Given the description of an element on the screen output the (x, y) to click on. 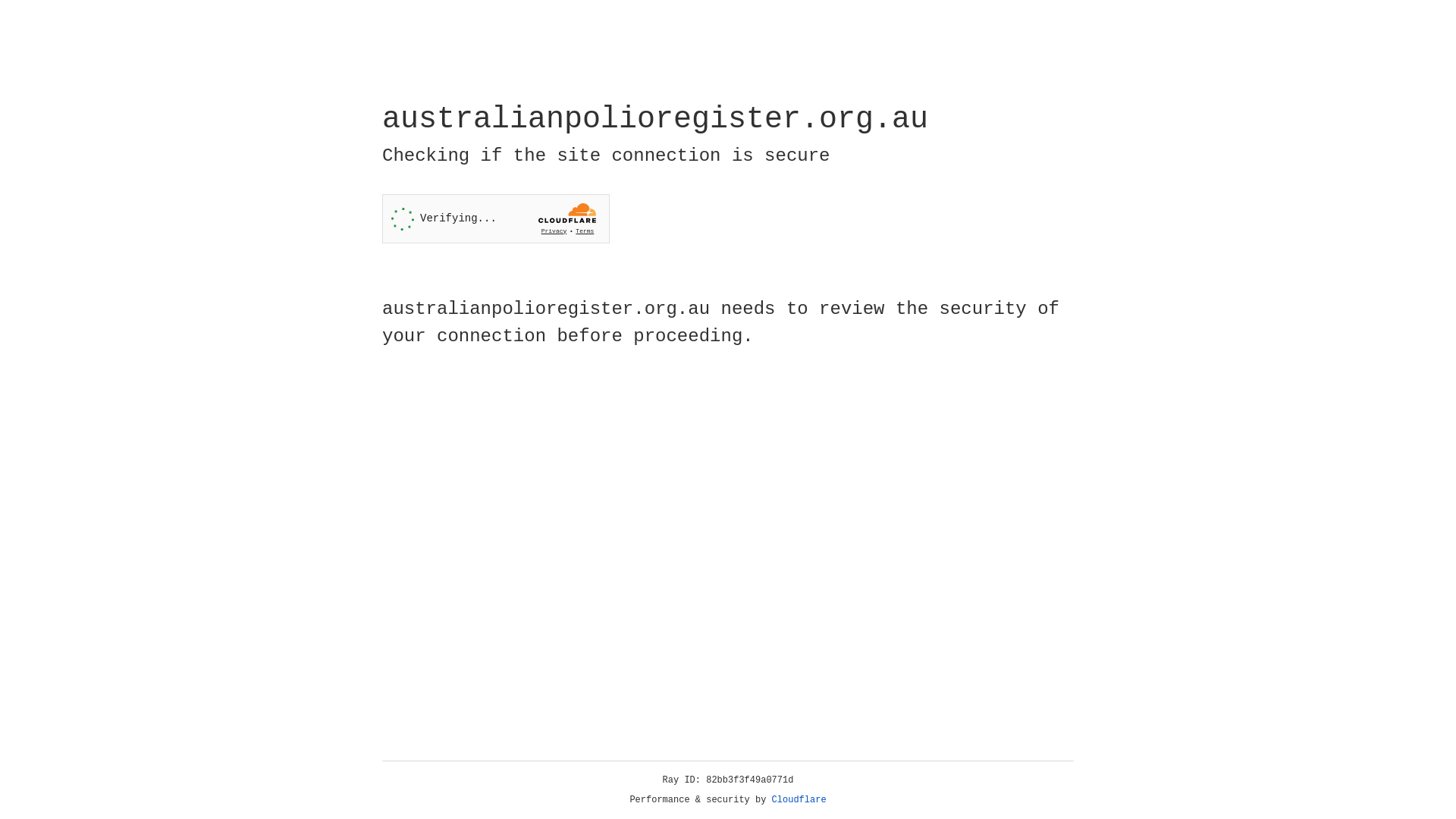
Widget containing a Cloudflare security challenge Element type: hover (495, 218)
Cloudflare Element type: text (798, 799)
